Given the description of an element on the screen output the (x, y) to click on. 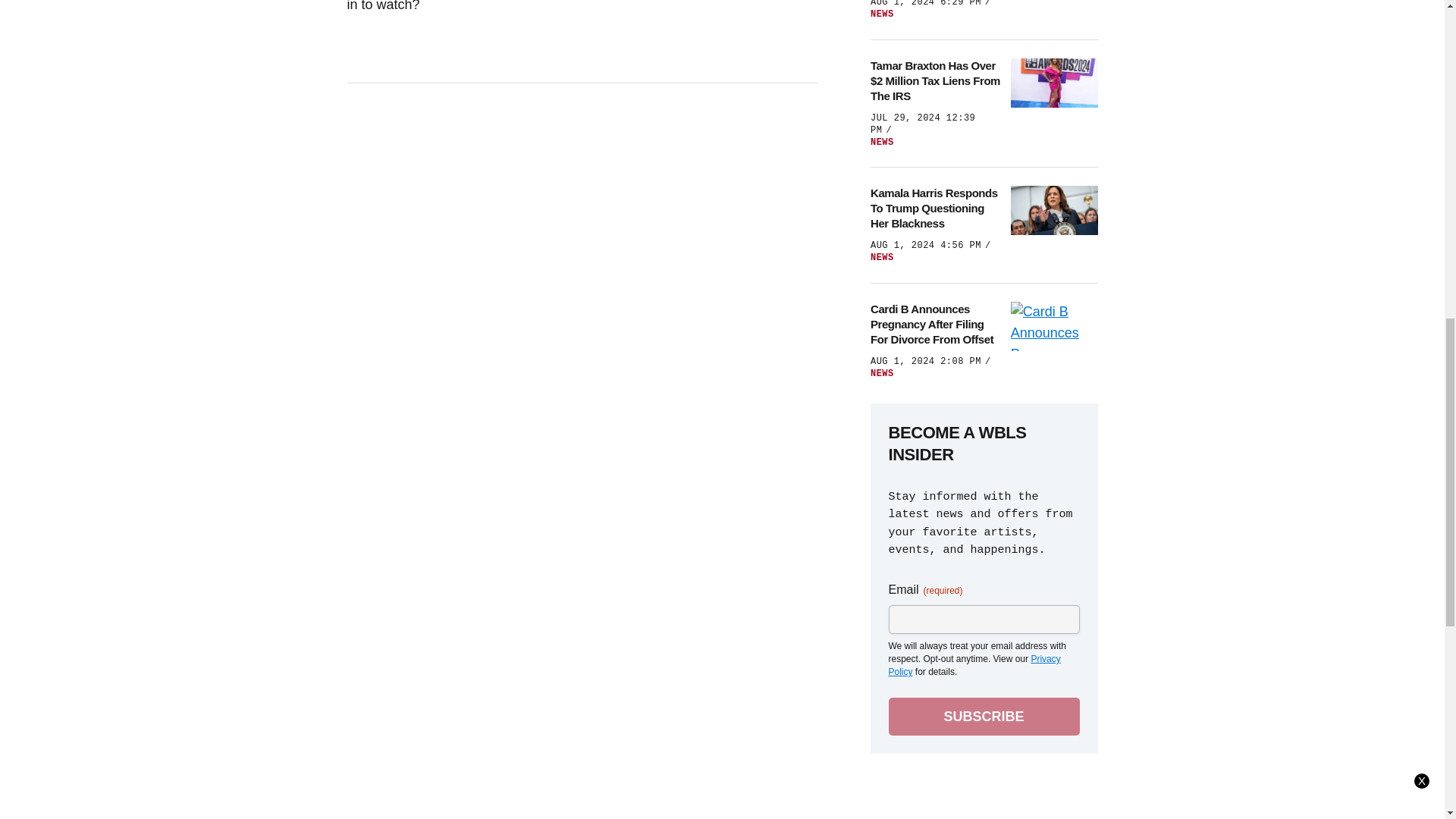
Kamala Harris Responds To Trump Questioning Her Blackness (935, 207)
Subscribe (984, 716)
Subscribe (984, 716)
Privacy Policy (974, 665)
